Given the description of an element on the screen output the (x, y) to click on. 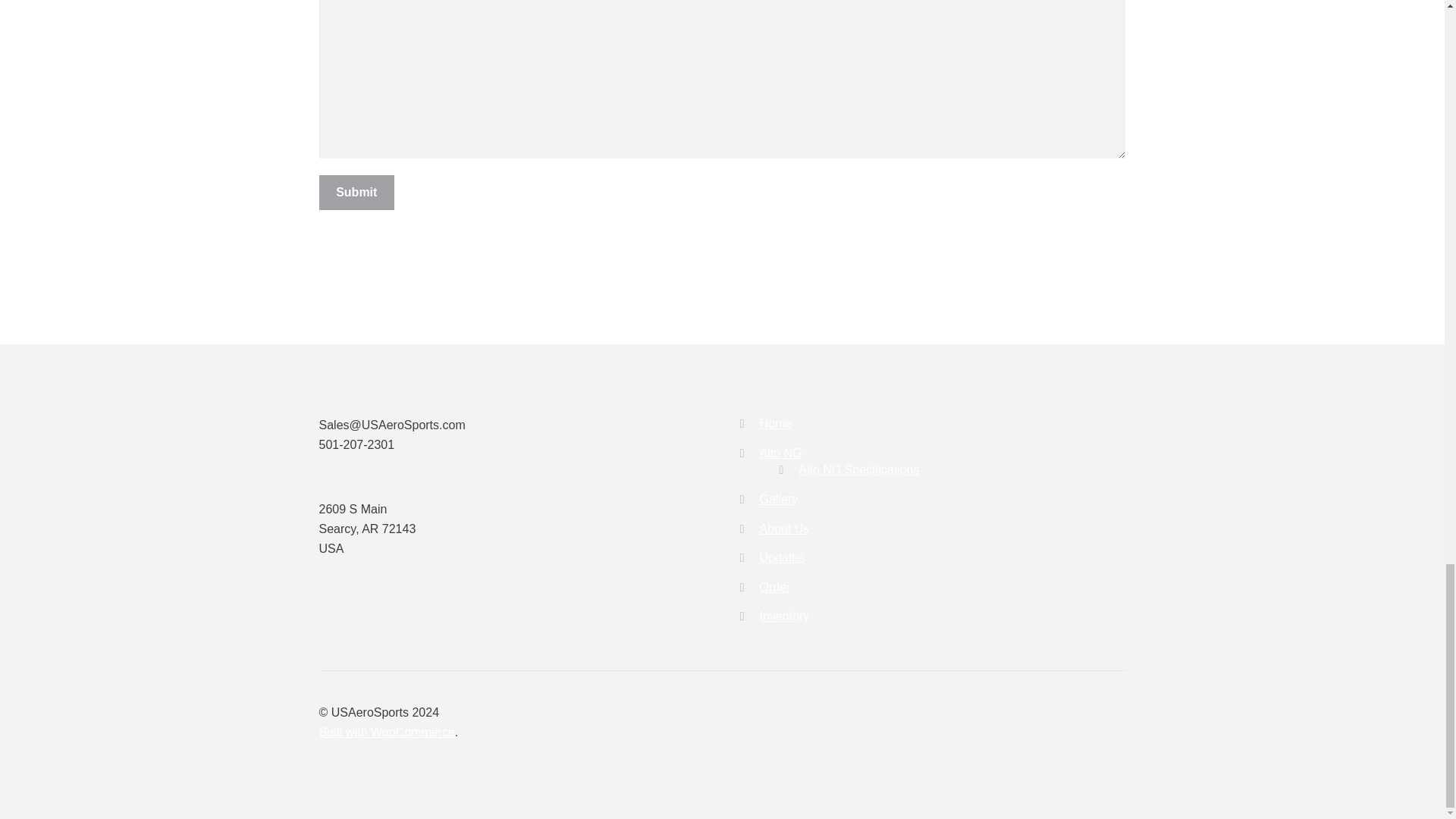
Alto NG Specifications (857, 469)
Home (776, 422)
About Us (784, 528)
Submit (356, 192)
Updates (782, 557)
Alto NG (781, 452)
Gallery (778, 499)
WooCommerce - The Best eCommerce Platform for WordPress (386, 731)
Submit (356, 192)
